Given the description of an element on the screen output the (x, y) to click on. 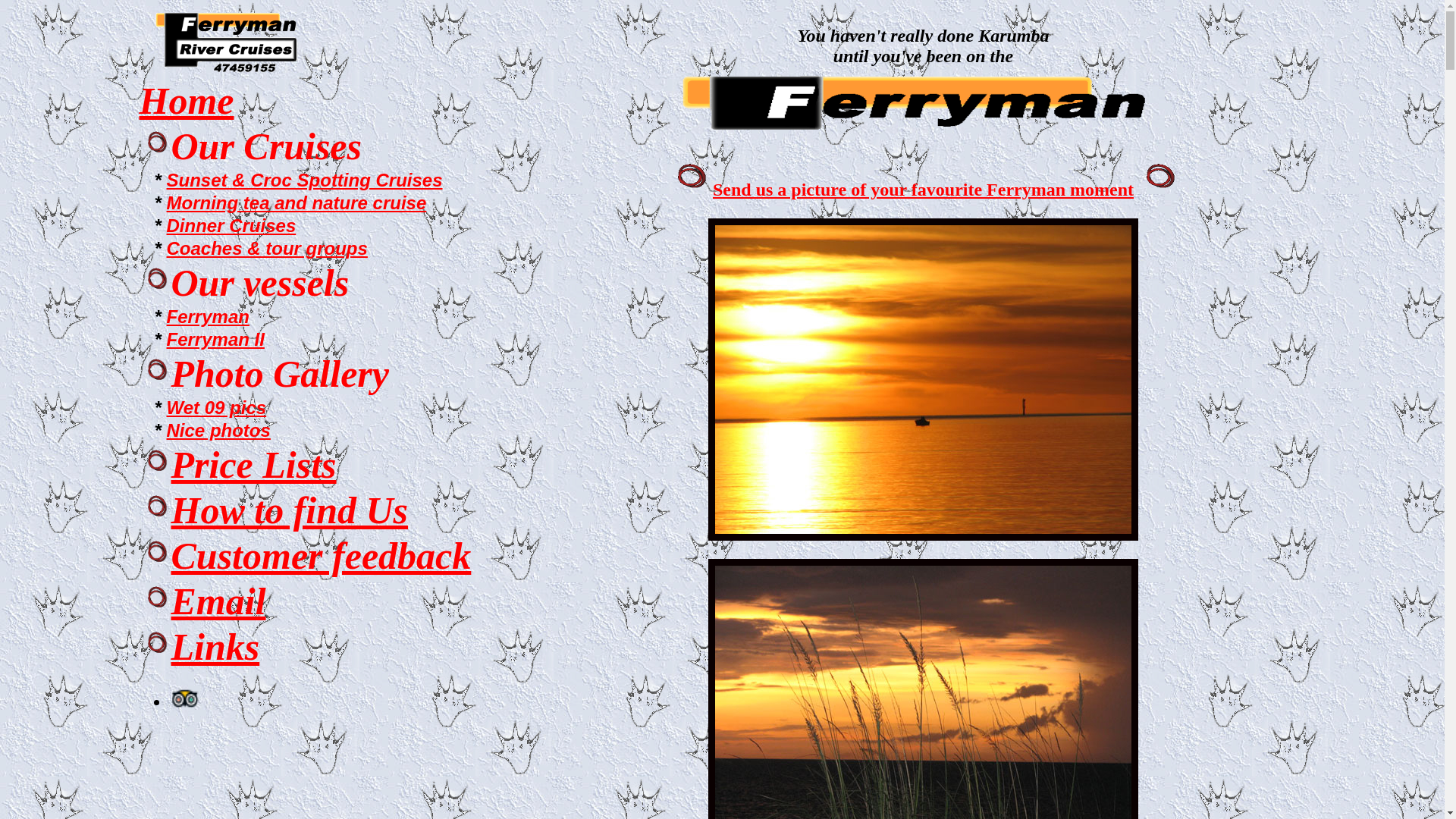
Sunset & Croc Spotting Cruises Element type: text (304, 179)
Home Element type: text (186, 100)
Morning tea and nature cruise Element type: text (296, 202)
Send us a picture of your favourite Ferryman moment Element type: text (922, 189)
Nice photos Element type: text (218, 430)
How to find Us Element type: text (289, 510)
Dinner Cruises Element type: text (231, 225)
Ferryman Element type: text (207, 316)
Links Element type: text (215, 646)
Customer feedback Element type: text (321, 555)
Ferryman II Element type: text (215, 339)
Price Lists Element type: text (253, 464)
Coaches & tour groups Element type: text (266, 248)
Wet 09 pics Element type: text (216, 407)
Email Element type: text (218, 601)
